Given the description of an element on the screen output the (x, y) to click on. 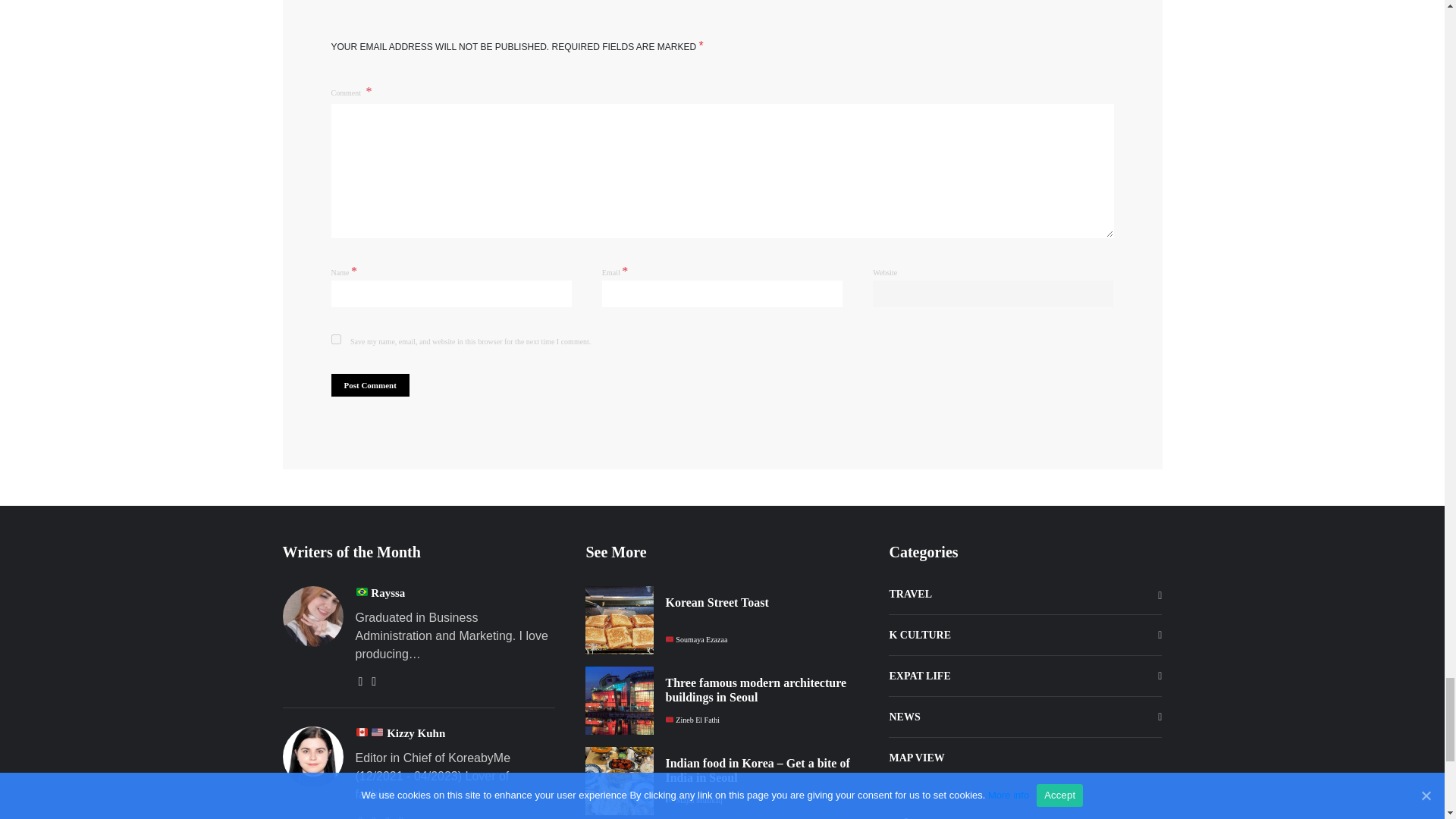
Post Comment (369, 385)
yes (335, 338)
